Given the description of an element on the screen output the (x, y) to click on. 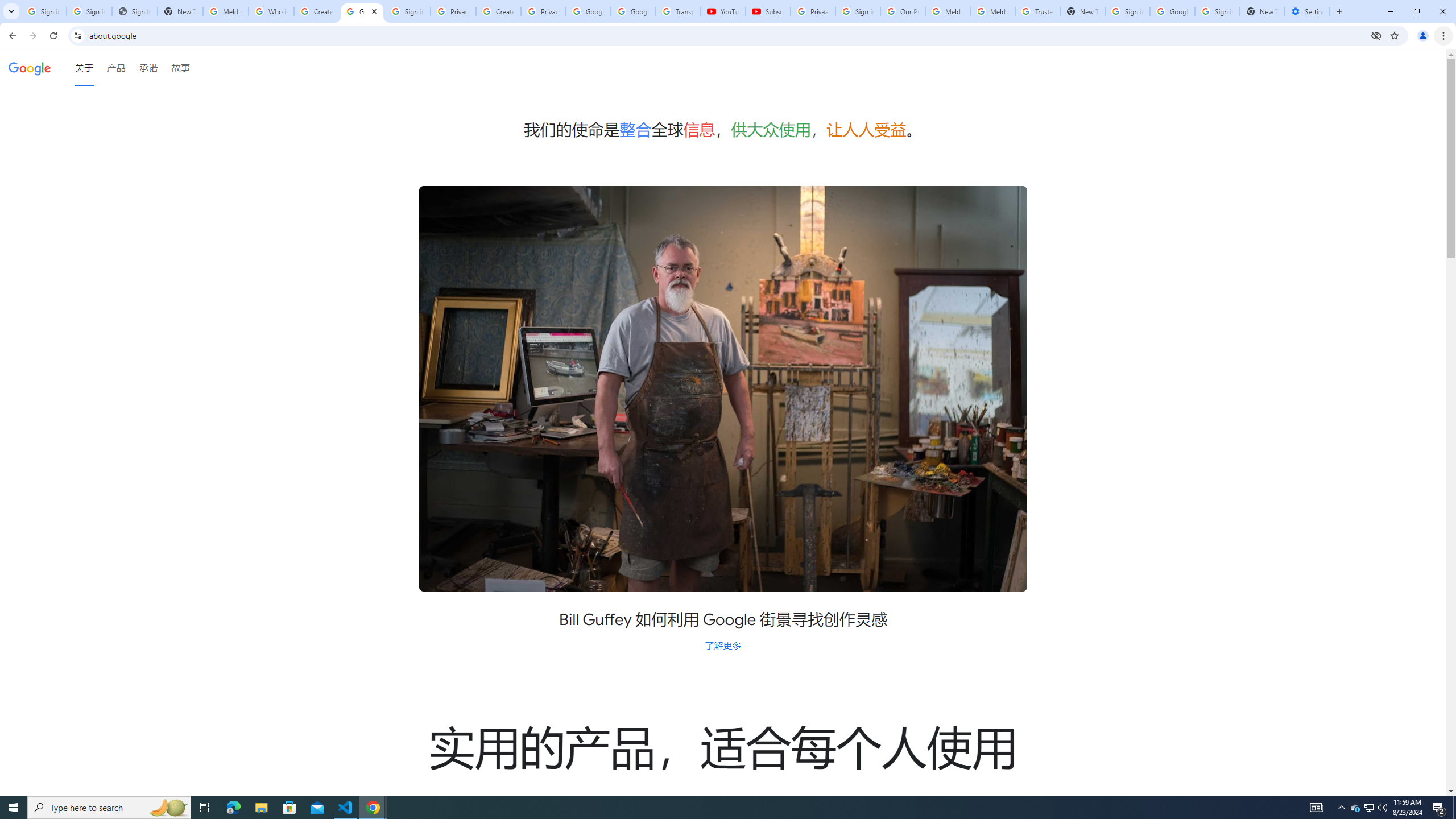
Subscriptions - YouTube (767, 11)
YouTube (723, 11)
Sign in - Google Accounts (857, 11)
Create your Google Account (316, 11)
